Given the description of an element on the screen output the (x, y) to click on. 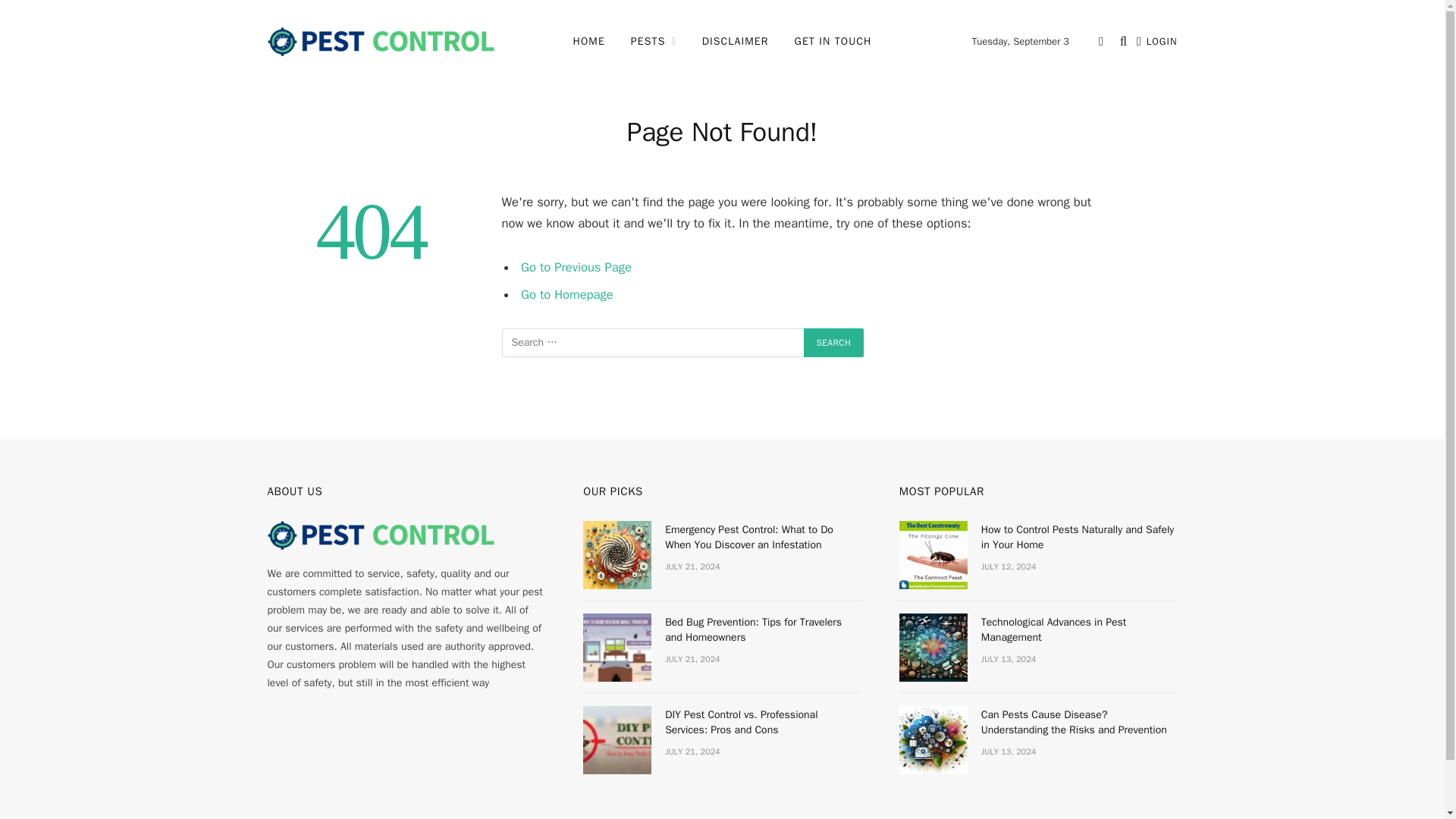
Pest Control NY (380, 41)
Search (833, 342)
Search (833, 342)
